Given the description of an element on the screen output the (x, y) to click on. 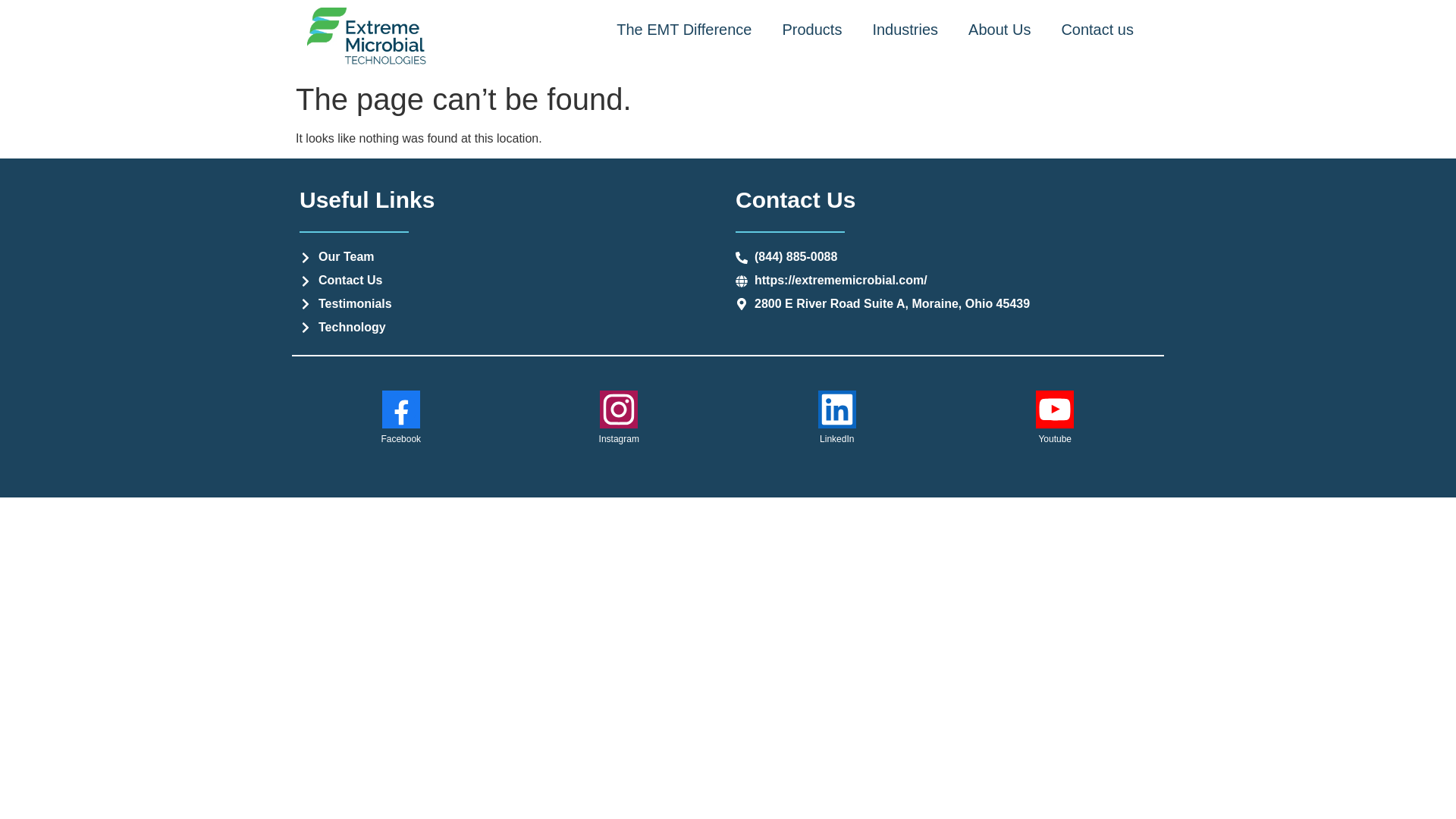
About Us (999, 29)
Industries (905, 29)
Products (812, 29)
Contact us (1096, 29)
The EMT Difference (684, 29)
